Given the description of an element on the screen output the (x, y) to click on. 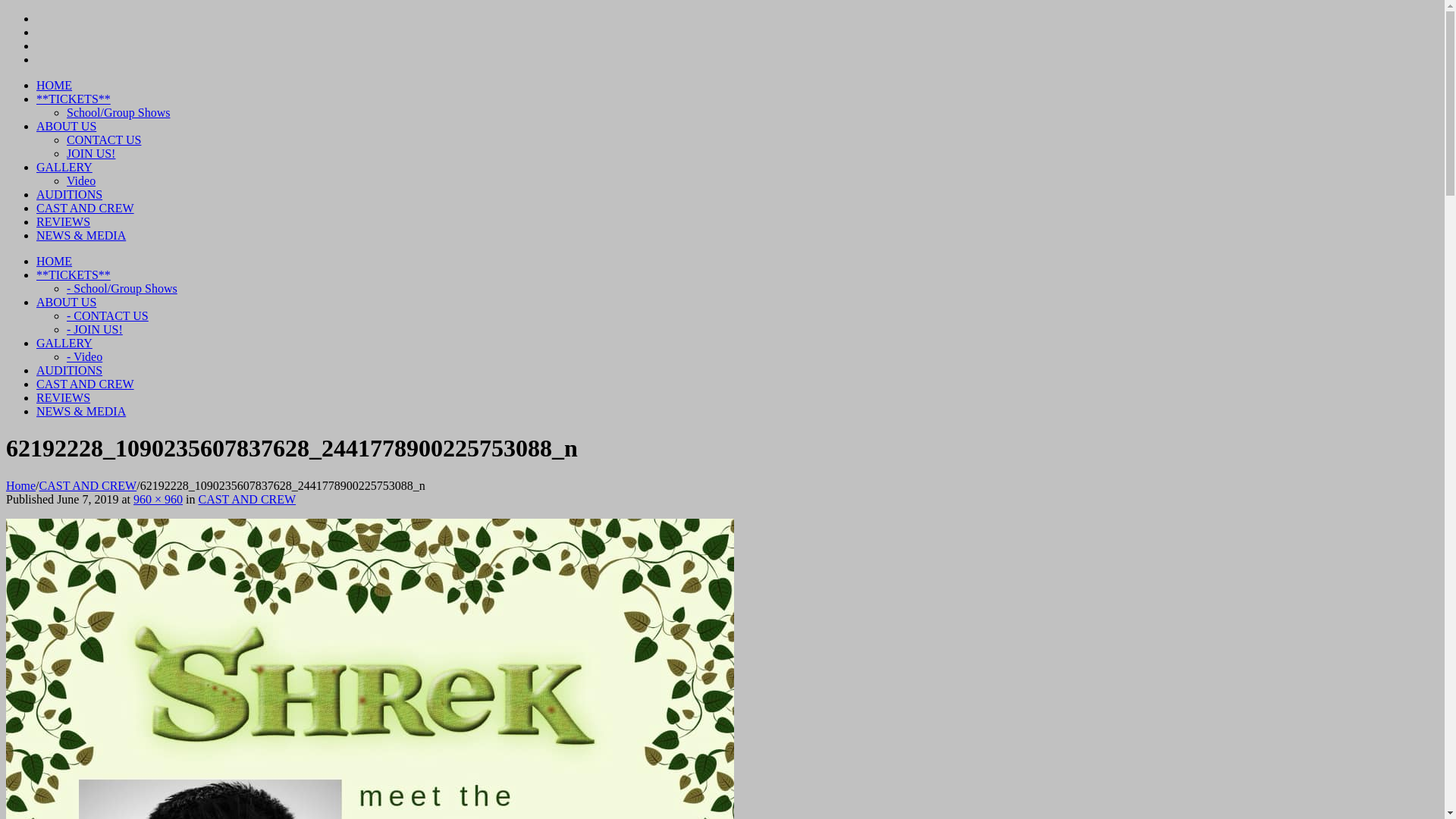
REVIEWS Element type: text (63, 221)
**TICKETS** Element type: text (73, 98)
AUDITIONS Element type: text (69, 370)
CAST AND CREW Element type: text (88, 485)
ABOUT US Element type: text (66, 125)
Home Element type: text (20, 485)
CAST AND CREW Element type: text (85, 207)
AUDITIONS Element type: text (69, 194)
NEWS & MEDIA Element type: text (80, 410)
School/Group Shows Element type: text (117, 112)
CAST AND CREW Element type: text (85, 383)
HOME Element type: text (54, 84)
Video Element type: text (80, 180)
HOME Element type: text (54, 260)
- CONTACT US Element type: text (107, 315)
ABOUT US Element type: text (66, 301)
CAST AND CREW Element type: text (246, 498)
- School/Group Shows Element type: text (121, 288)
GALLERY Element type: text (64, 342)
- Video Element type: text (84, 356)
CONTACT US Element type: text (103, 139)
- JOIN US! Element type: text (94, 329)
GALLERY Element type: text (64, 166)
NEWS & MEDIA Element type: text (80, 235)
**TICKETS** Element type: text (73, 274)
REVIEWS Element type: text (63, 397)
JOIN US! Element type: text (90, 153)
